Given the description of an element on the screen output the (x, y) to click on. 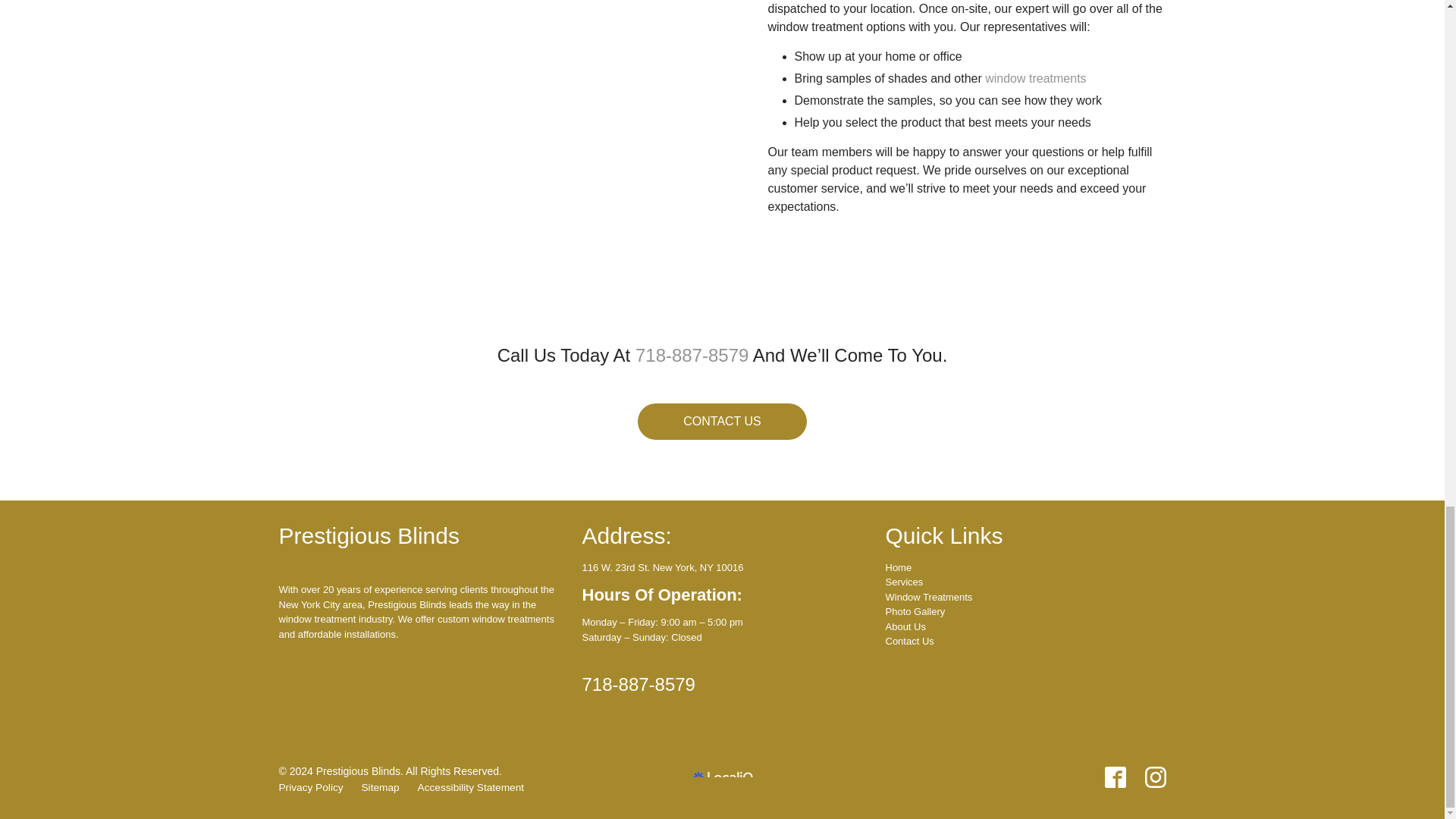
instagram (1155, 776)
facebook (1115, 776)
718-887-8579 (691, 355)
window treatments (1035, 78)
CONTACT US (721, 421)
